Given the description of an element on the screen output the (x, y) to click on. 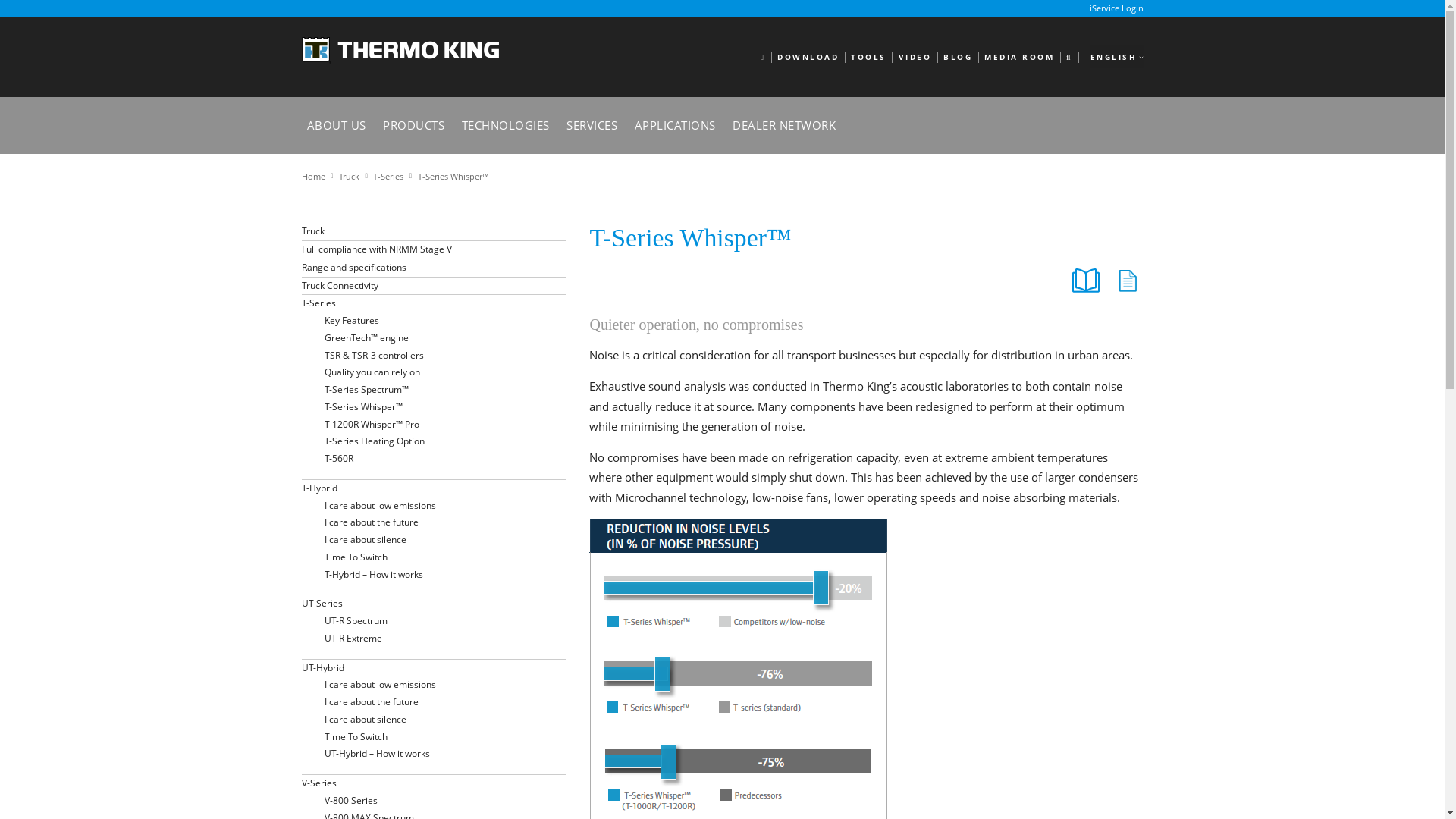
VIDEO (914, 57)
MEDIA ROOM (1018, 57)
TOOLS (868, 57)
ABOUT US (336, 124)
PRODUCTS (413, 124)
T-1200R Whisper Pro - Brochure (1085, 280)
TECHNOLOGIES (505, 124)
BLOG (957, 57)
DOWNLOAD (807, 57)
SERVICES (591, 124)
